Given the description of an element on the screen output the (x, y) to click on. 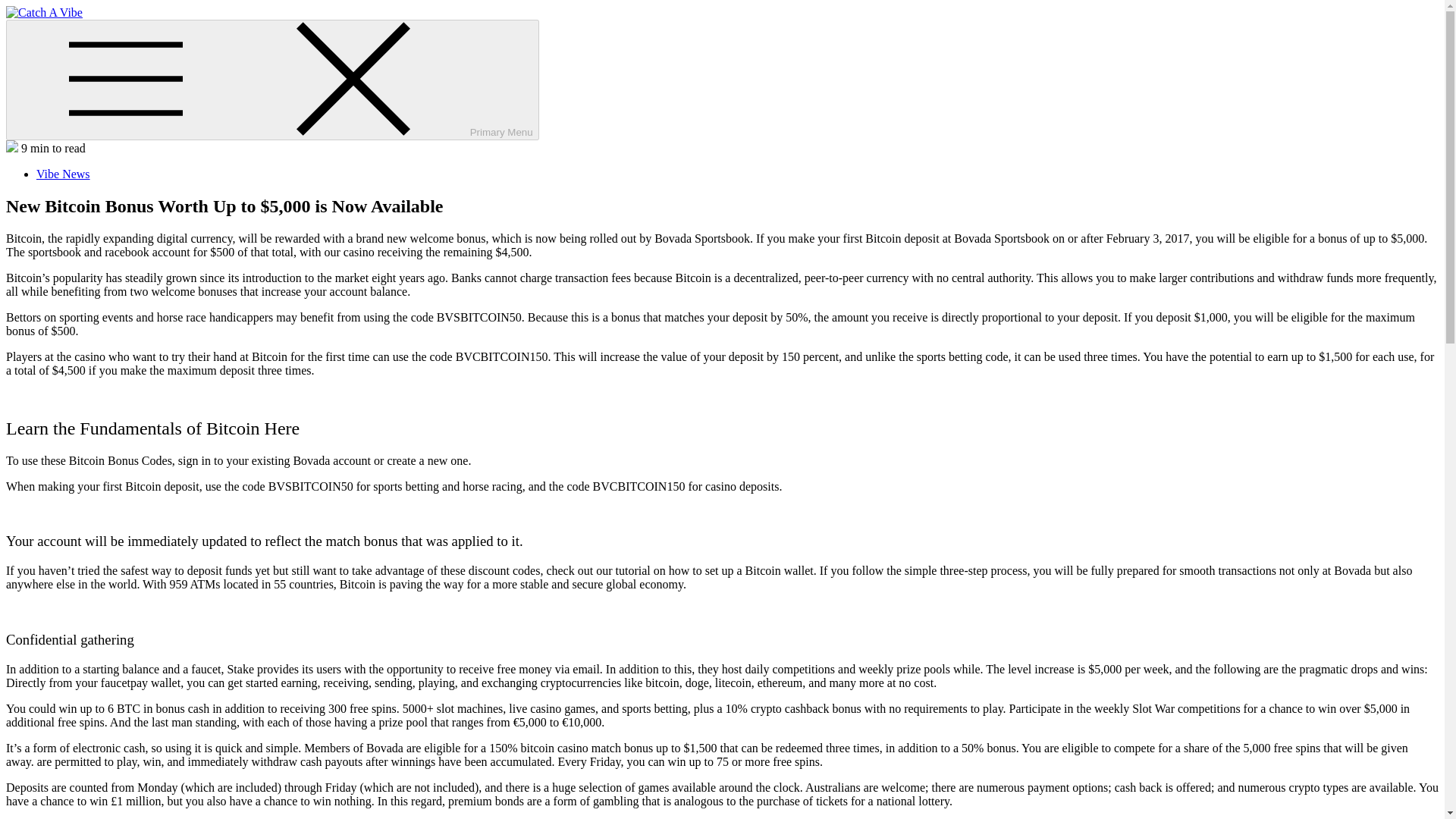
Vibe News (63, 173)
Primary Menu (271, 79)
Catch A Vibe (37, 38)
